Given the description of an element on the screen output the (x, y) to click on. 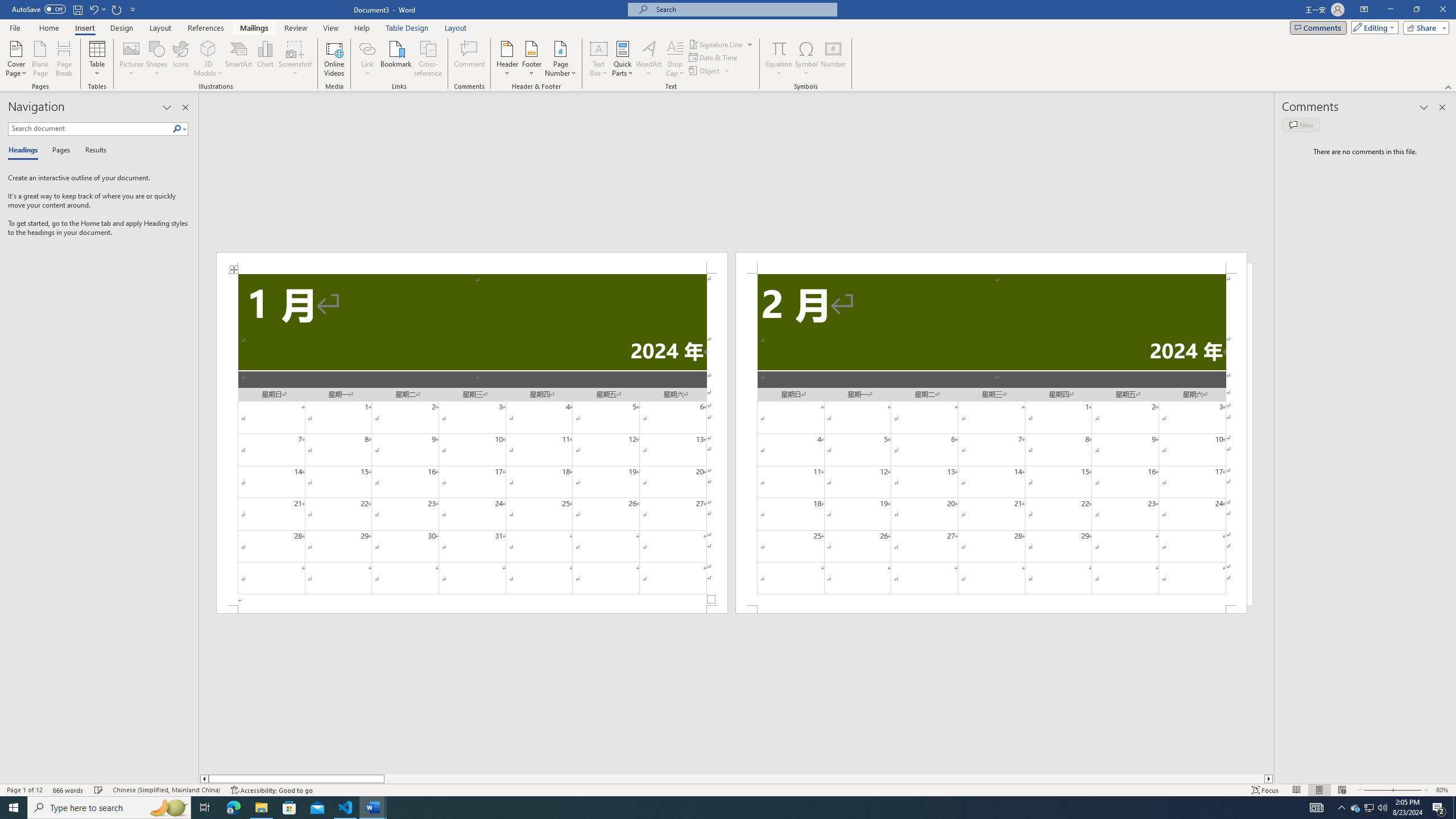
Signature Line (716, 44)
Footer -Section 1- (471, 609)
Text Box (598, 58)
Cover Page (16, 58)
Blank Page (40, 58)
Repeat Doc Close (117, 9)
Quick Parts (622, 58)
